Given the description of an element on the screen output the (x, y) to click on. 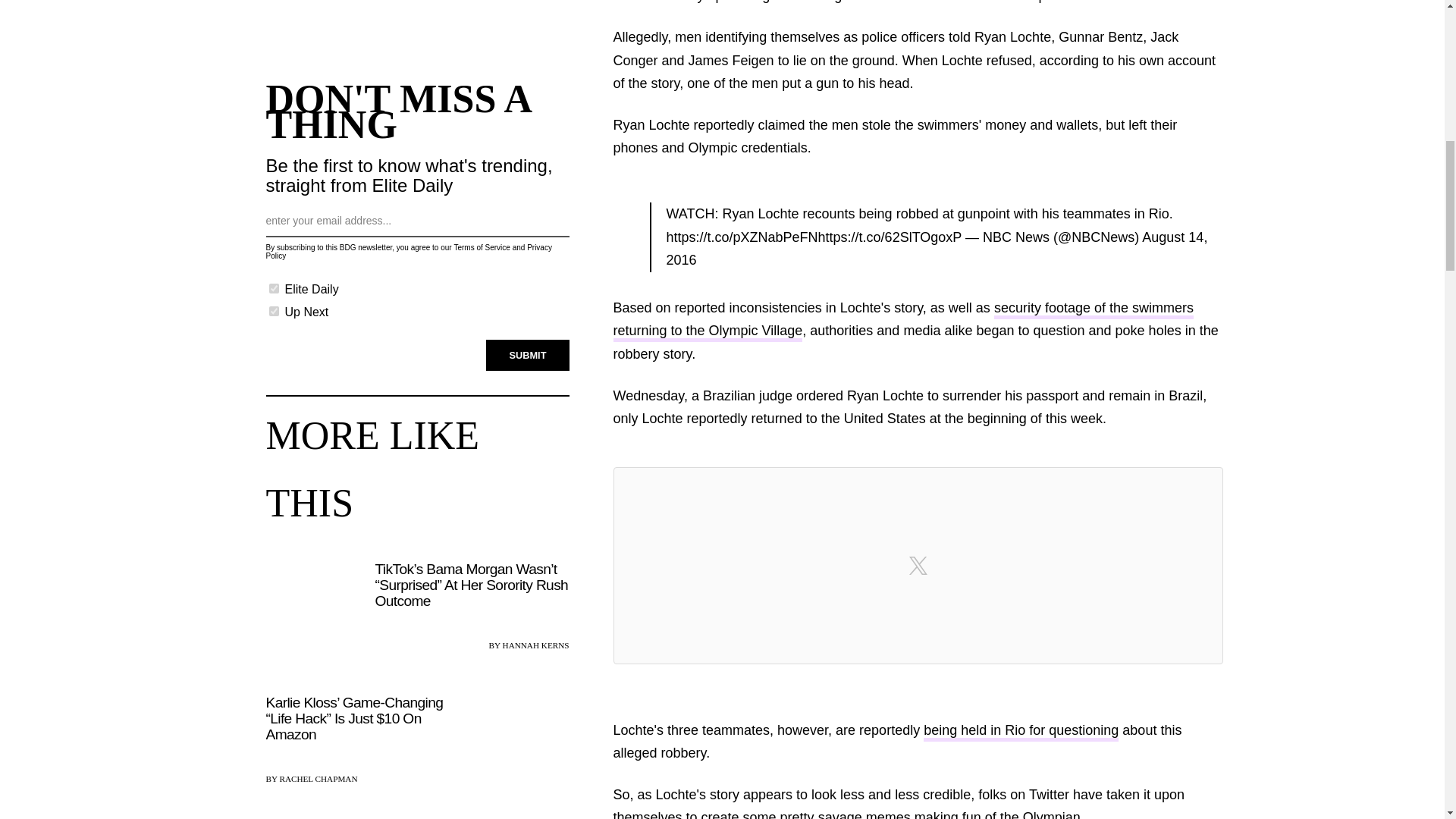
being held in Rio for questioning (1020, 732)
savage memes (864, 814)
Privacy Policy (407, 251)
Terms of Service (480, 247)
SUBMIT (527, 355)
